Given the description of an element on the screen output the (x, y) to click on. 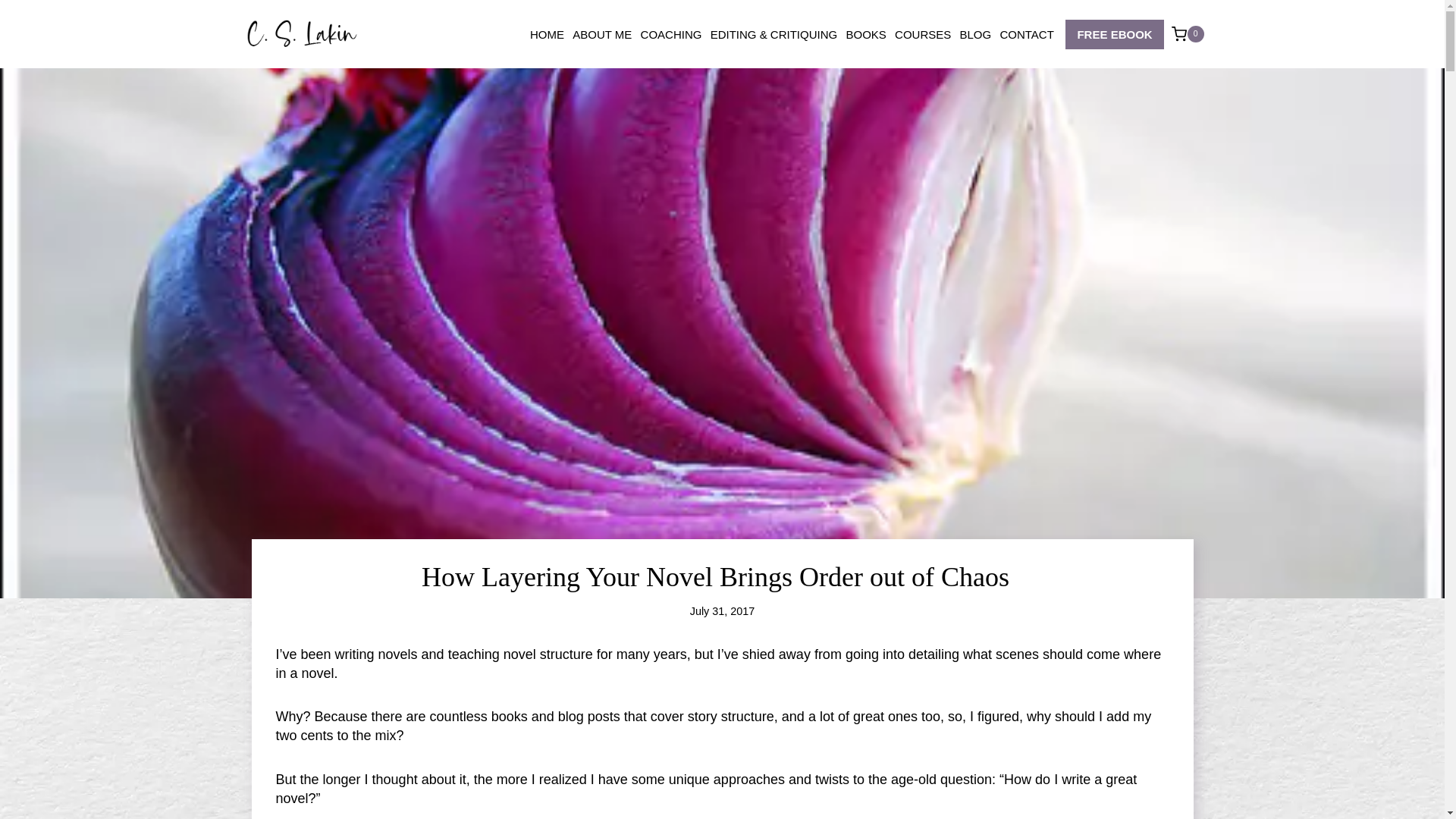
ABOUT ME (602, 33)
BOOKS (866, 33)
HOME (546, 33)
FREE EBOOK (1114, 34)
0 (1188, 33)
COURSES (922, 33)
BLOG (975, 33)
COACHING (671, 33)
CONTACT (1026, 33)
